Given the description of an element on the screen output the (x, y) to click on. 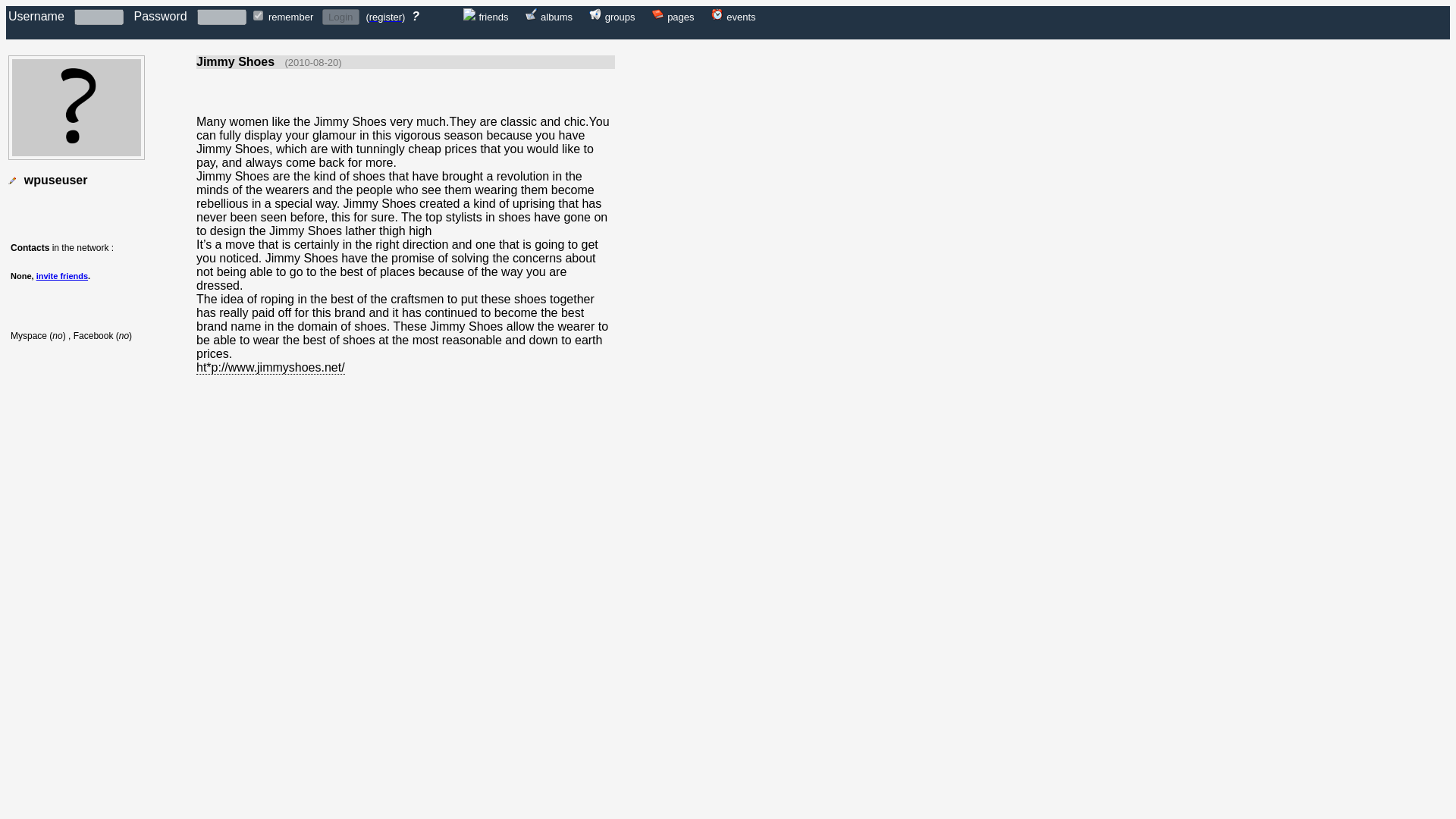
groups (619, 15)
Please connect to find events (717, 15)
Find friends (493, 15)
Please connect to view albums (531, 15)
friends (493, 15)
Please connect to find events (740, 15)
Find friends (469, 15)
Please connect to find pages (680, 15)
wpuseuser (55, 179)
pages (680, 15)
